Given the description of an element on the screen output the (x, y) to click on. 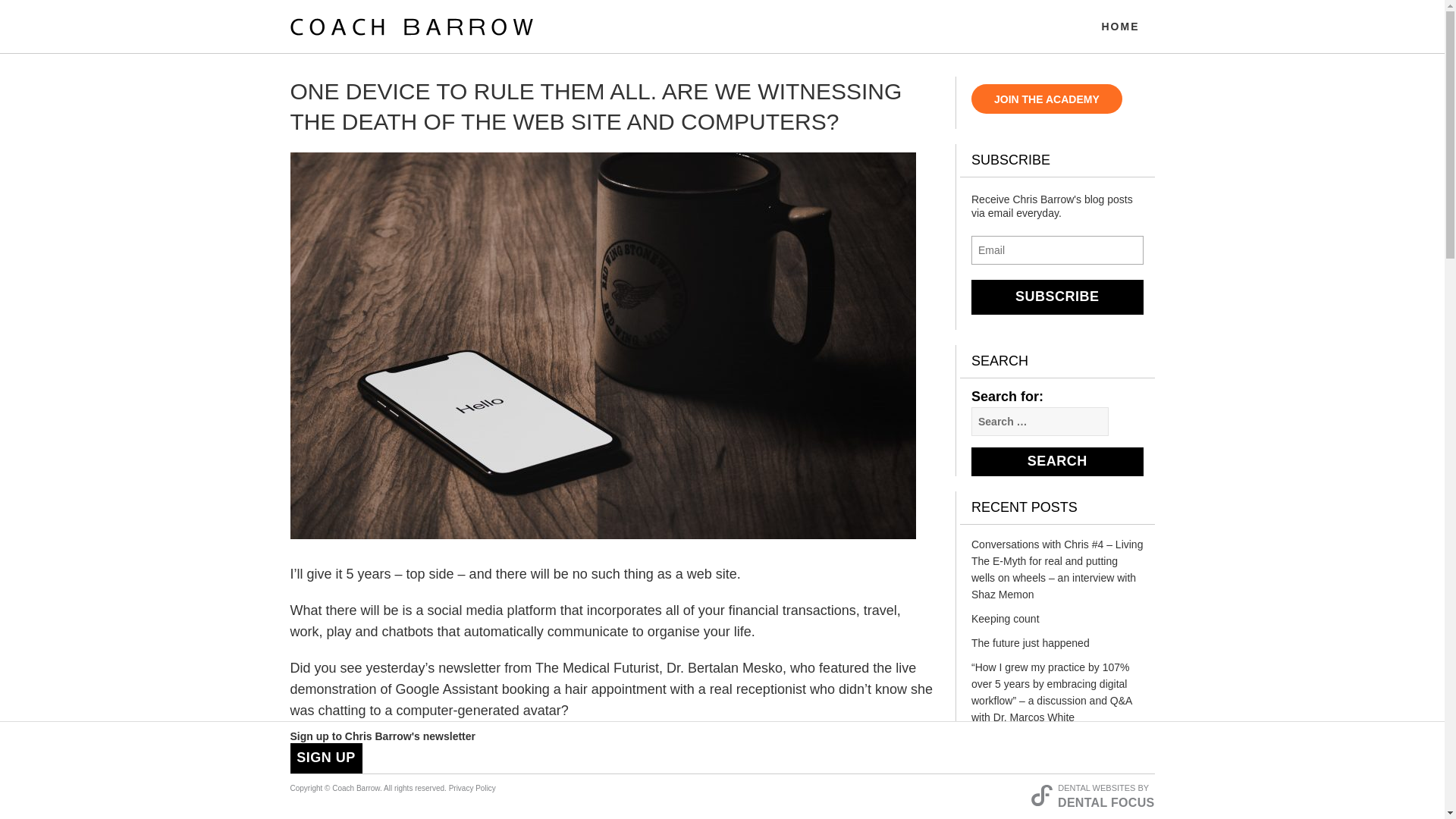
Search (1056, 461)
HOME (1120, 32)
Search (1056, 461)
Subscribe (1056, 297)
Home (1120, 32)
Subscribe (1056, 297)
JOIN THE ACADEMY (1046, 98)
Keeping count (1056, 622)
The future just happened (1056, 646)
